Given the description of an element on the screen output the (x, y) to click on. 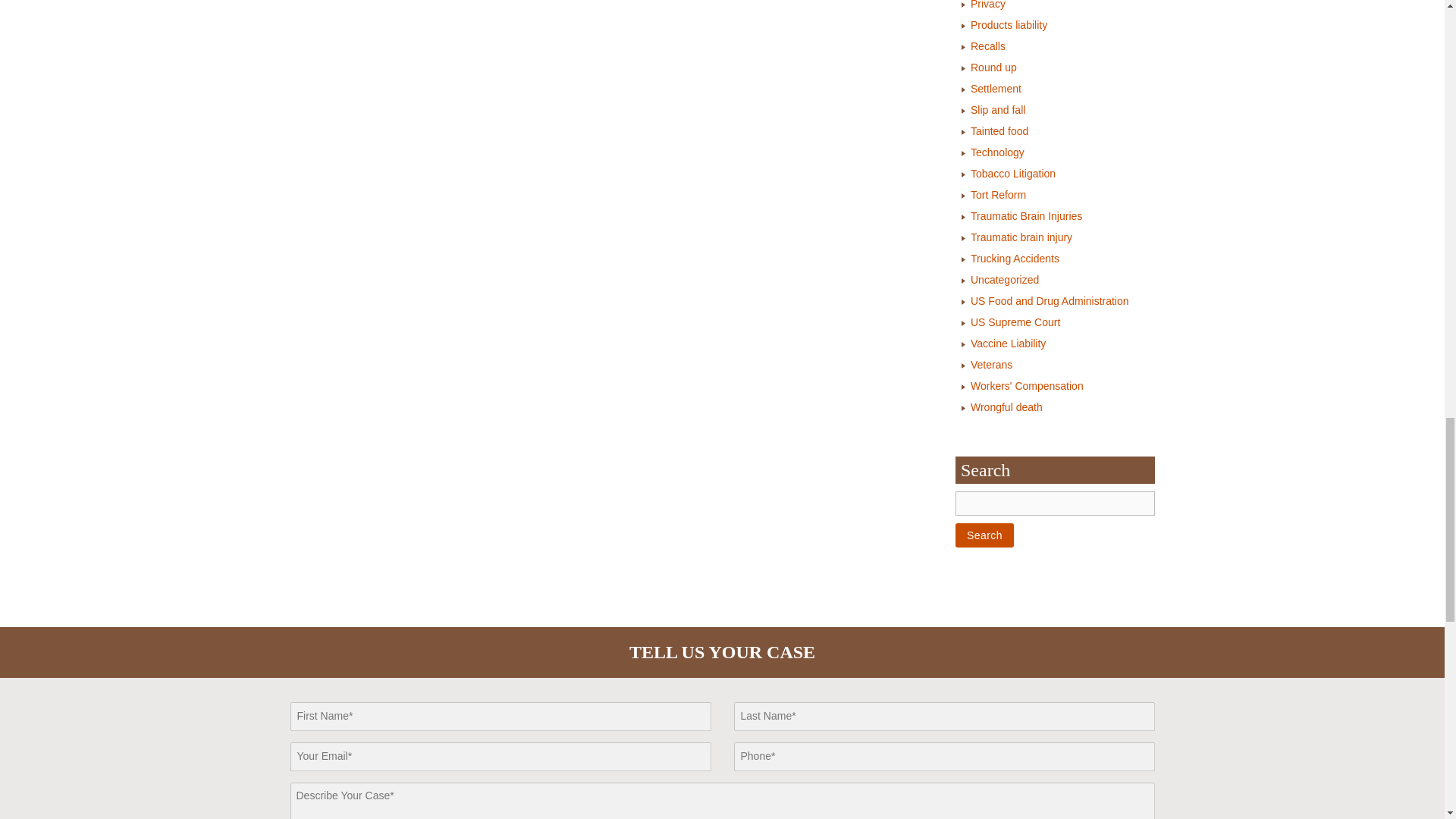
Search (984, 535)
